Given the description of an element on the screen output the (x, y) to click on. 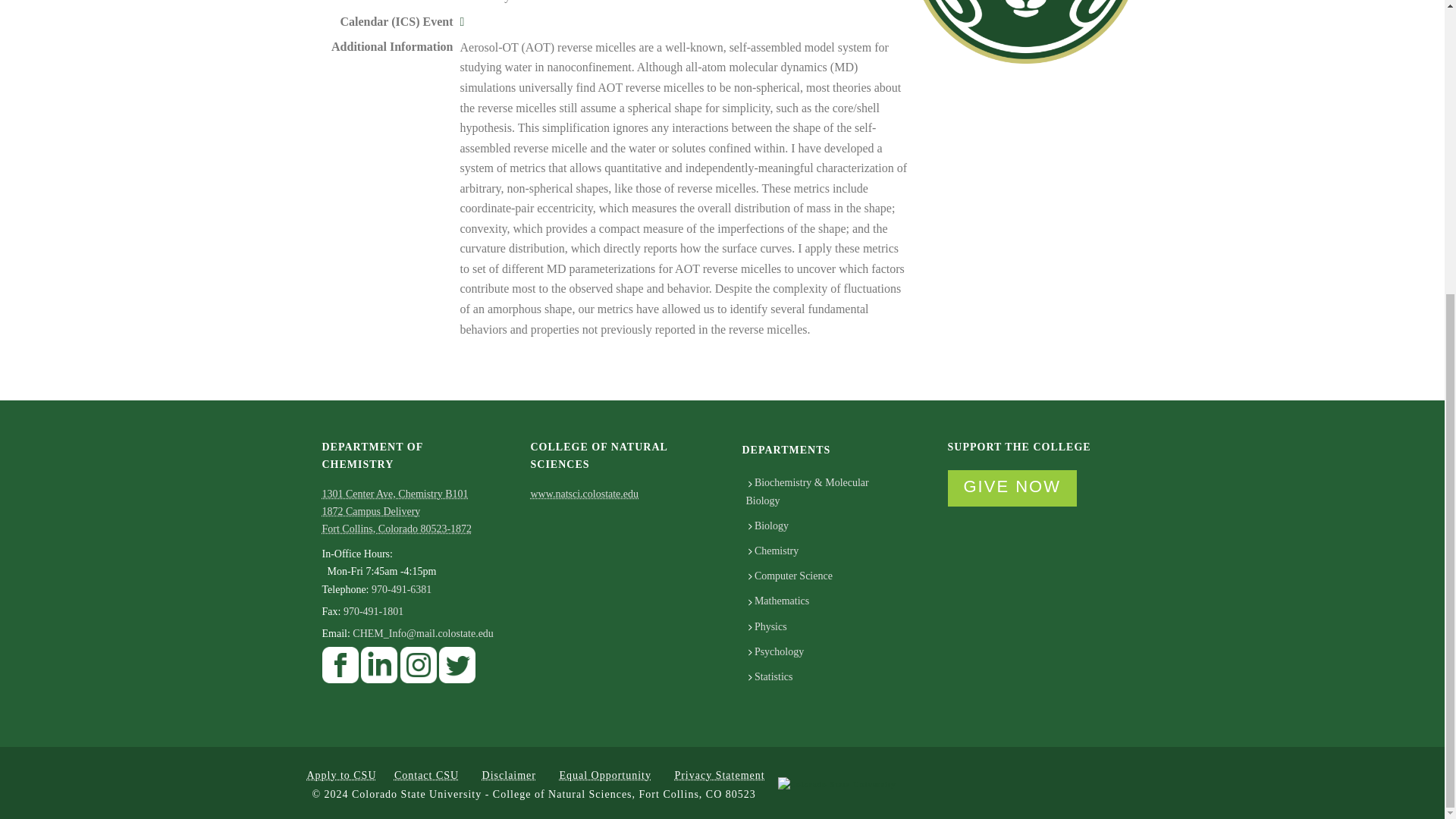
Follow Us on facebook (339, 668)
Follow Us on Twitter (457, 668)
Follow Us on linkedin (379, 668)
Follow Us on instagram (418, 668)
